Given the description of an element on the screen output the (x, y) to click on. 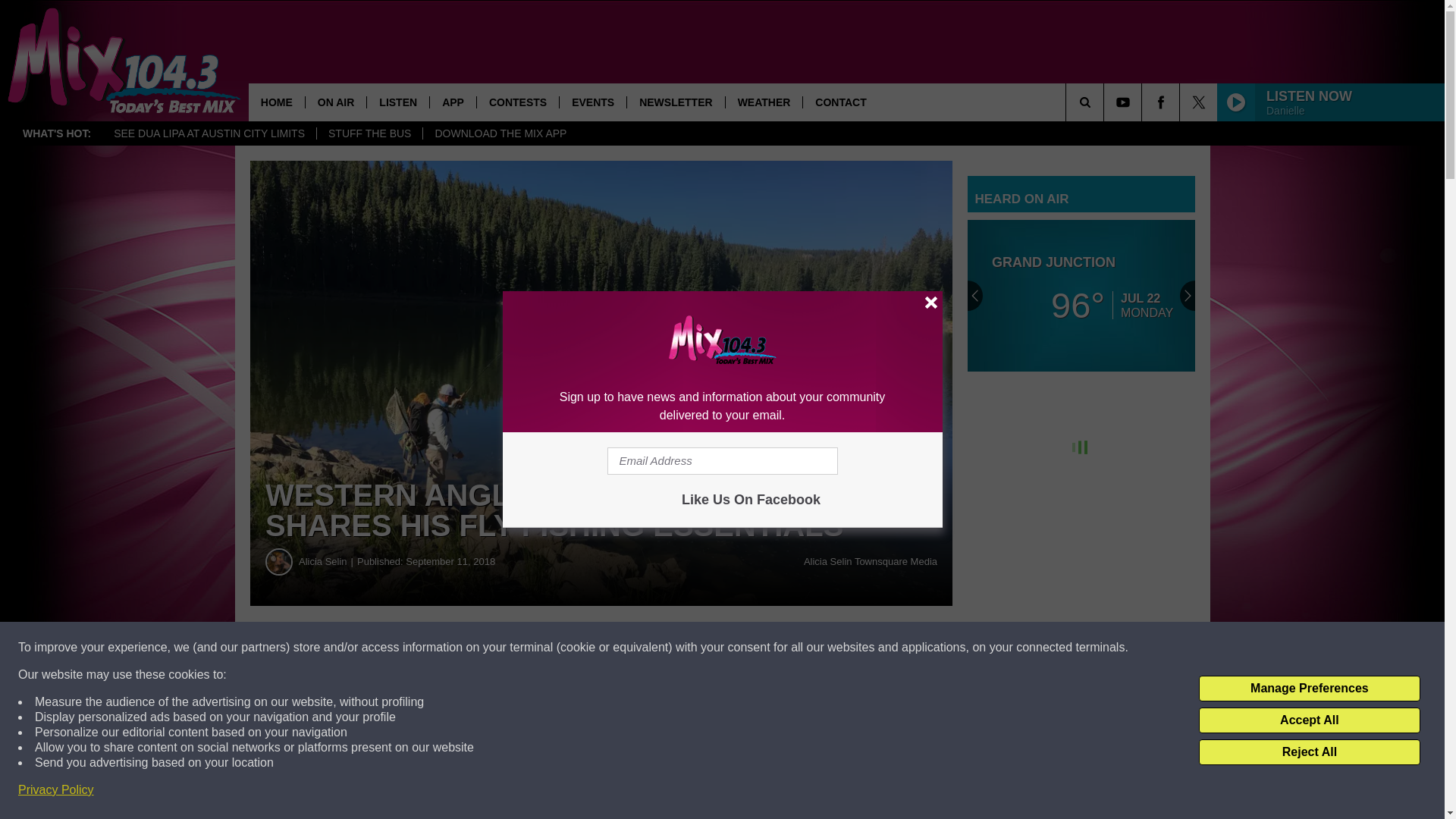
EVENTS (592, 102)
SEARCH (1106, 102)
Grand Junction Weather (1081, 295)
ON AIR (335, 102)
Privacy Policy (55, 789)
LISTEN (397, 102)
Share on Facebook (460, 647)
STUFF THE BUS (368, 133)
WHAT'S HOT: (56, 133)
Reject All (1309, 751)
Accept All (1309, 720)
CONTESTS (517, 102)
HOME (276, 102)
SEARCH (1106, 102)
Manage Preferences (1309, 688)
